Given the description of an element on the screen output the (x, y) to click on. 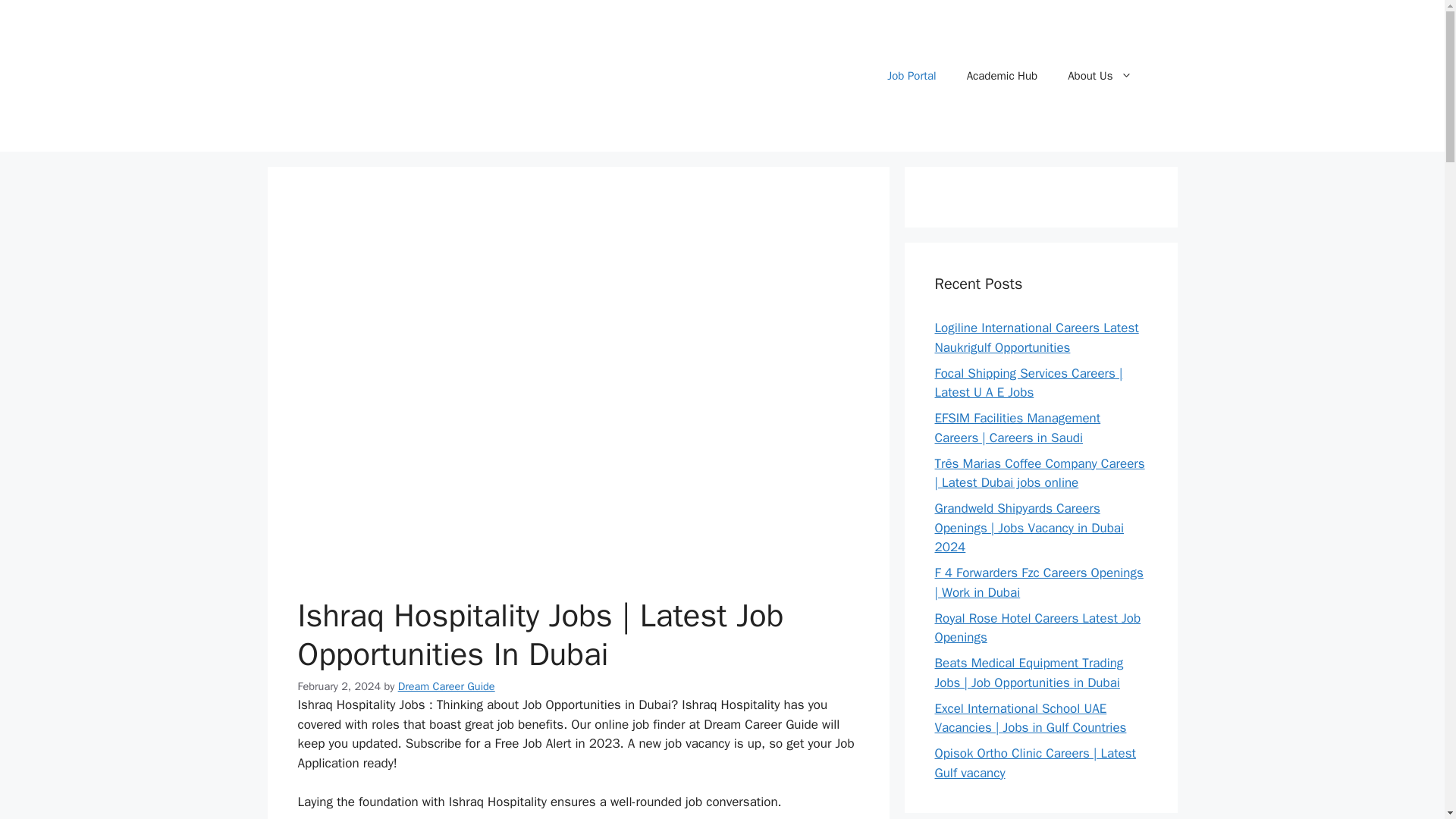
Dream Career Guide (446, 685)
View all posts by Dream Career Guide (446, 685)
Job Portal (911, 75)
Academic Hub (1002, 75)
About Us (1099, 75)
Royal Rose Hotel Careers Latest Job Openings (1037, 627)
